Given the description of an element on the screen output the (x, y) to click on. 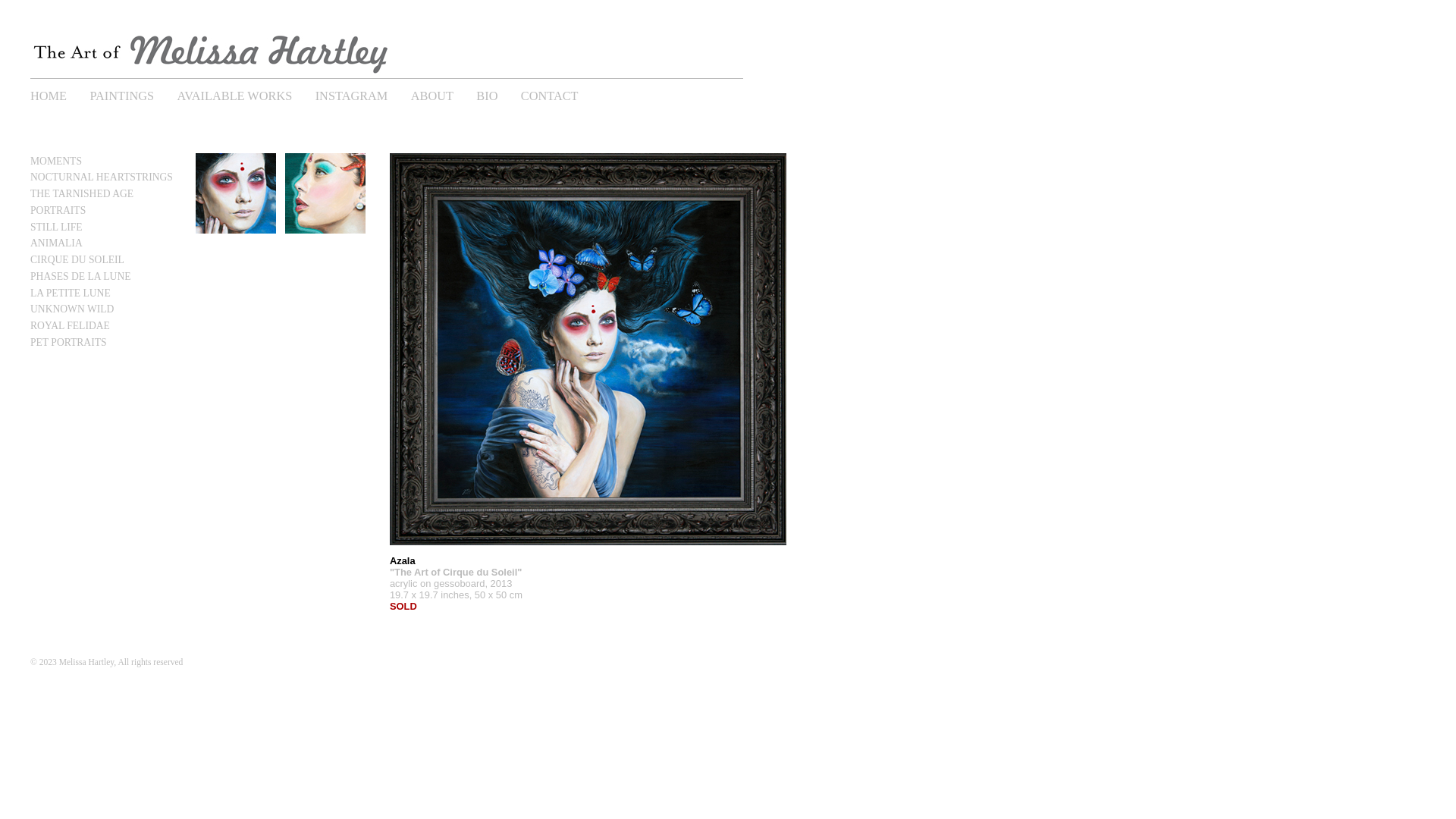
PAINTINGS Element type: text (131, 92)
CONTACT Element type: text (559, 92)
INSTAGRAM Element type: text (361, 92)
MOMENTS Element type: text (55, 160)
HOME Element type: text (58, 92)
LA PETITE LUNE Element type: text (70, 292)
PORTRAITS Element type: text (57, 210)
ROYAL FELIDAE Element type: text (69, 325)
NOCTURNAL HEARTSTRINGS Element type: text (101, 176)
ABOUT Element type: text (442, 92)
CIRQUE DU SOLEIL Element type: text (77, 259)
THE TARNISHED AGE Element type: text (81, 193)
ANIMALIA Element type: text (56, 242)
PHASES DE LA LUNE Element type: text (80, 276)
UNKNOWN WILD Element type: text (71, 308)
BIO Element type: text (496, 92)
STILL LIFE Element type: text (56, 226)
PET PORTRAITS Element type: text (68, 342)
AVAILABLE WORKS Element type: text (244, 92)
